Given the description of an element on the screen output the (x, y) to click on. 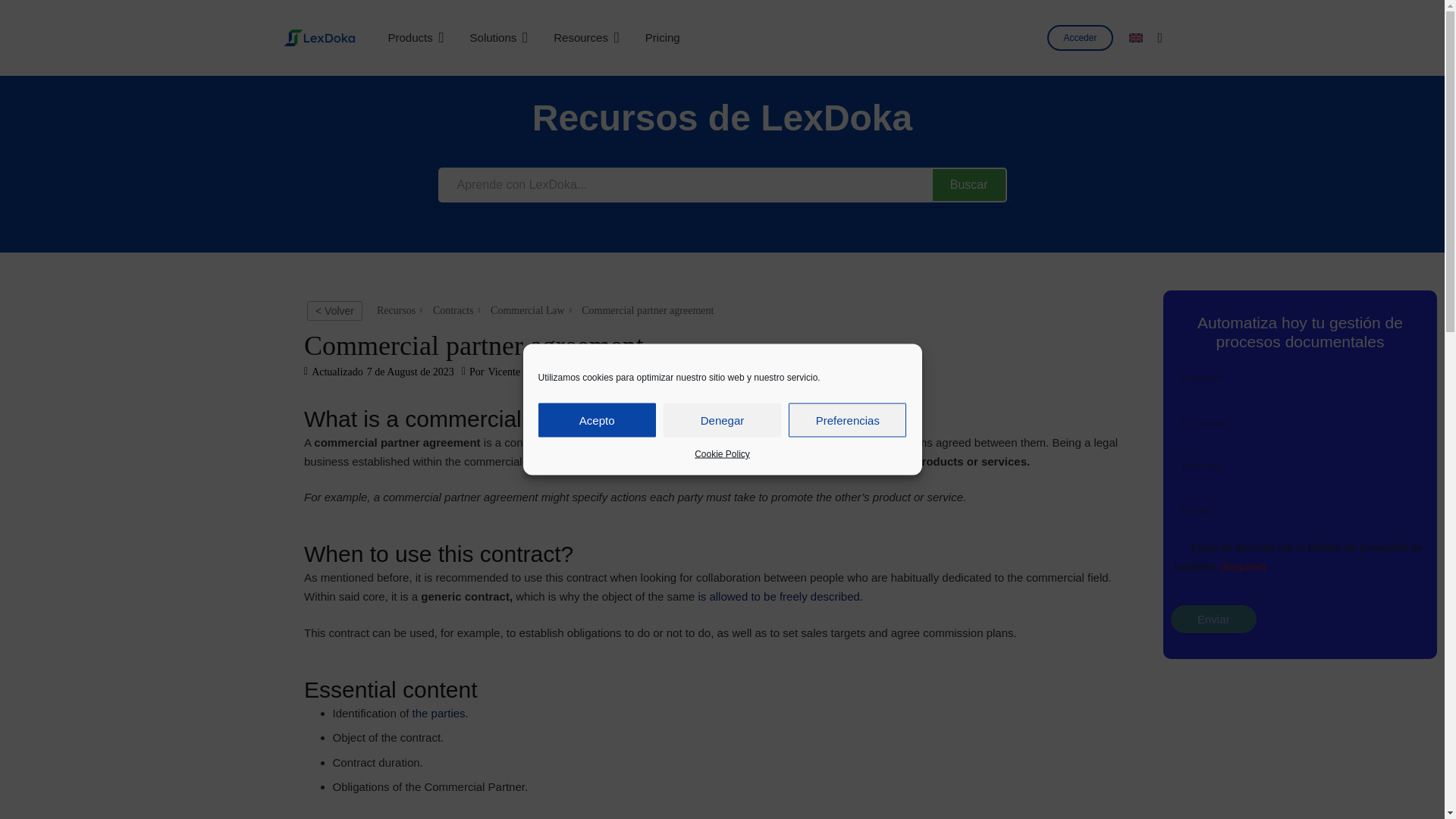
Cookie Policy (721, 453)
Solutions (499, 38)
Products (415, 38)
Enviar (1213, 619)
Acepto (597, 420)
Preferencias (847, 420)
Denegar (721, 420)
